Given the description of an element on the screen output the (x, y) to click on. 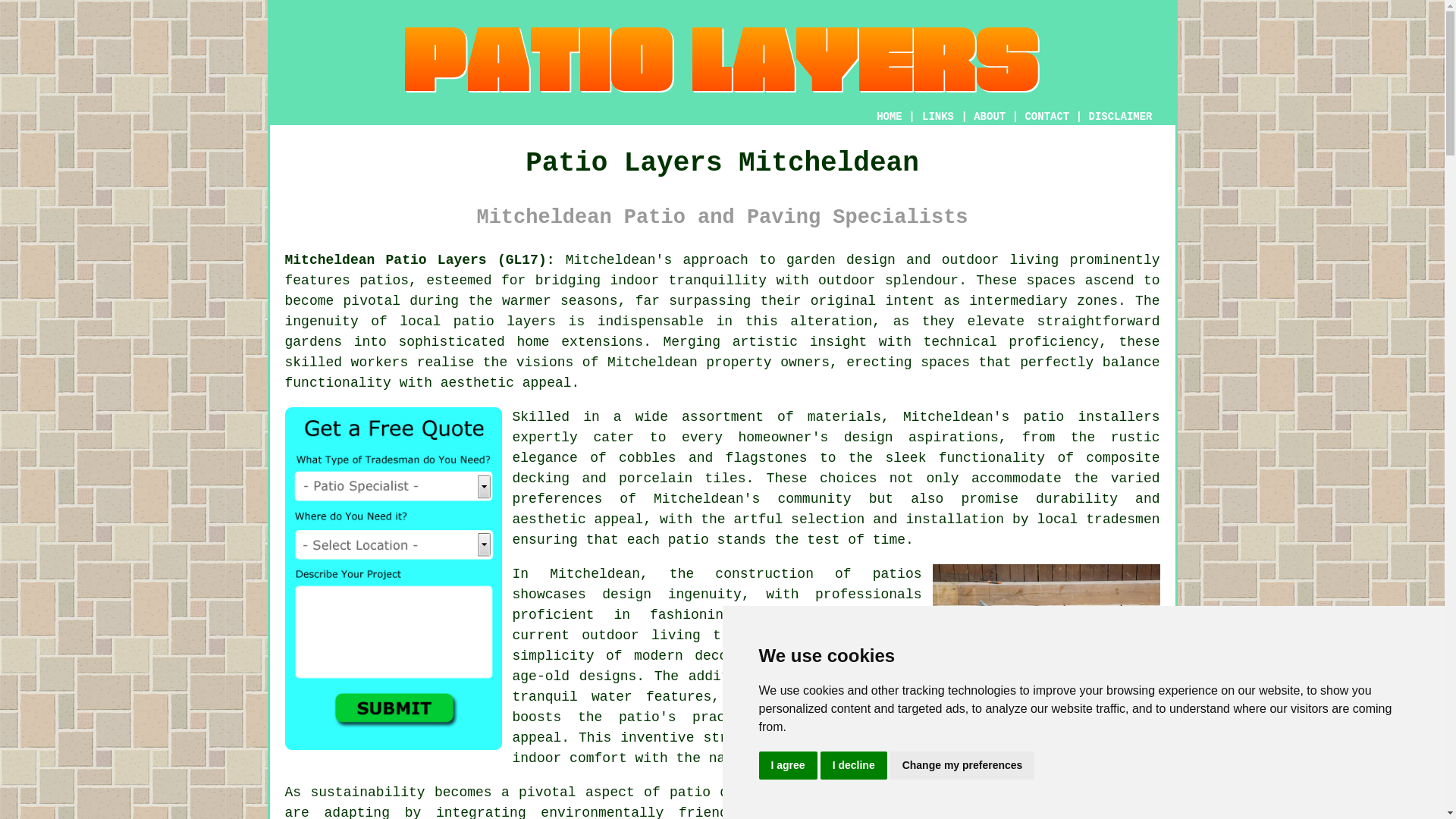
patio builders (1101, 792)
HOME (889, 116)
Patio Layers Mitcheldean (722, 60)
patio installers (1090, 417)
Change my preferences (962, 765)
I decline (853, 765)
I agree (787, 765)
patio layers (504, 321)
LINKS (938, 116)
construction (763, 573)
